Given the description of an element on the screen output the (x, y) to click on. 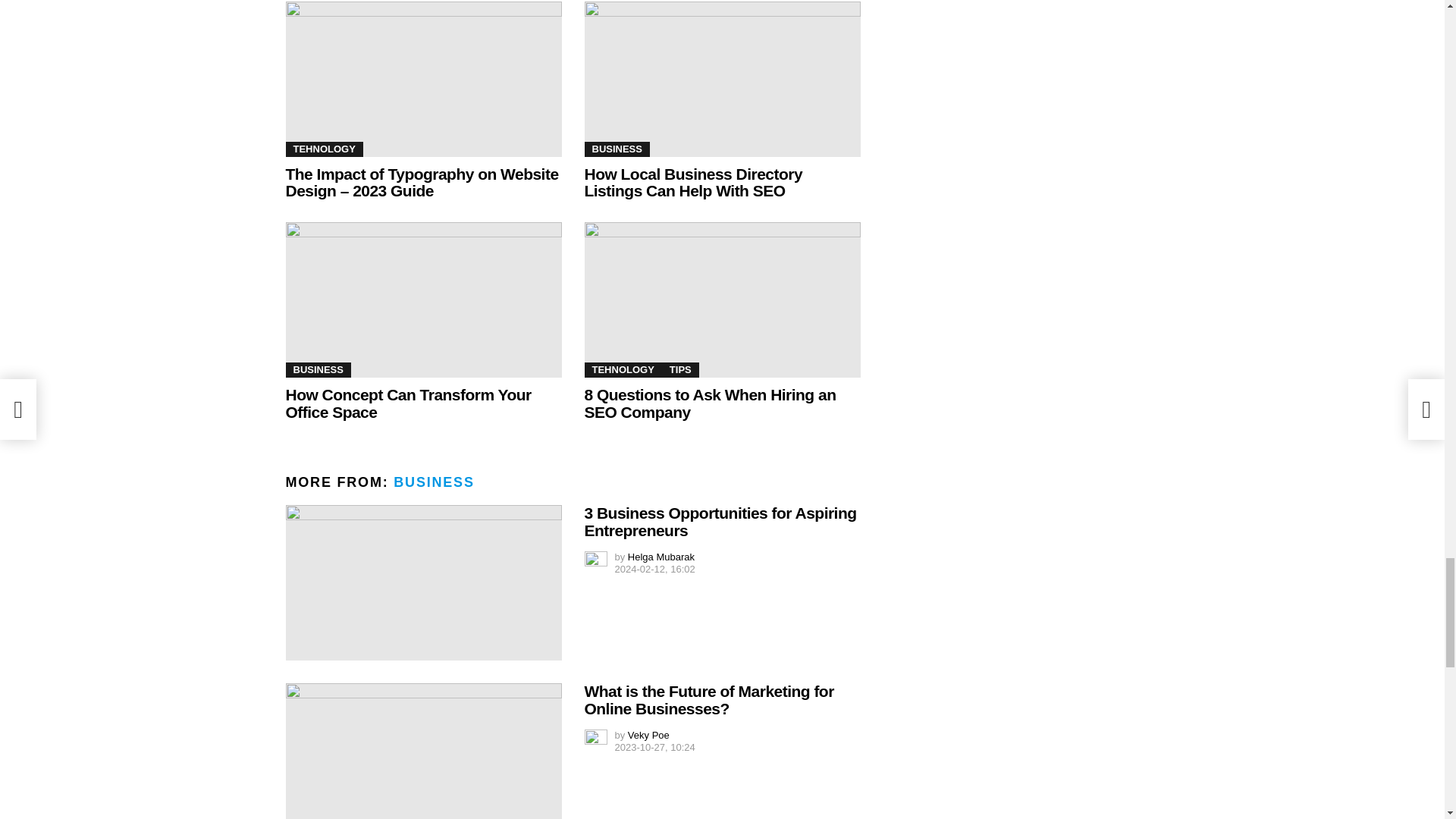
8 Questions to Ask When Hiring an SEO Company (721, 299)
3 Business Opportunities for Aspiring Entrepreneurs (422, 582)
How Local Business Directory Listings Can Help With SEO (721, 79)
What is the Future of Marketing for Online Businesses? (422, 751)
How Local Business Directory Listings Can Help With SEO (692, 182)
BUSINESS (616, 149)
TEHNOLOGY (323, 149)
Posts by Helga Mubarak (660, 556)
How Concept Can Transform Your Office Space (422, 299)
Posts by Veky Poe (648, 735)
